Given the description of an element on the screen output the (x, y) to click on. 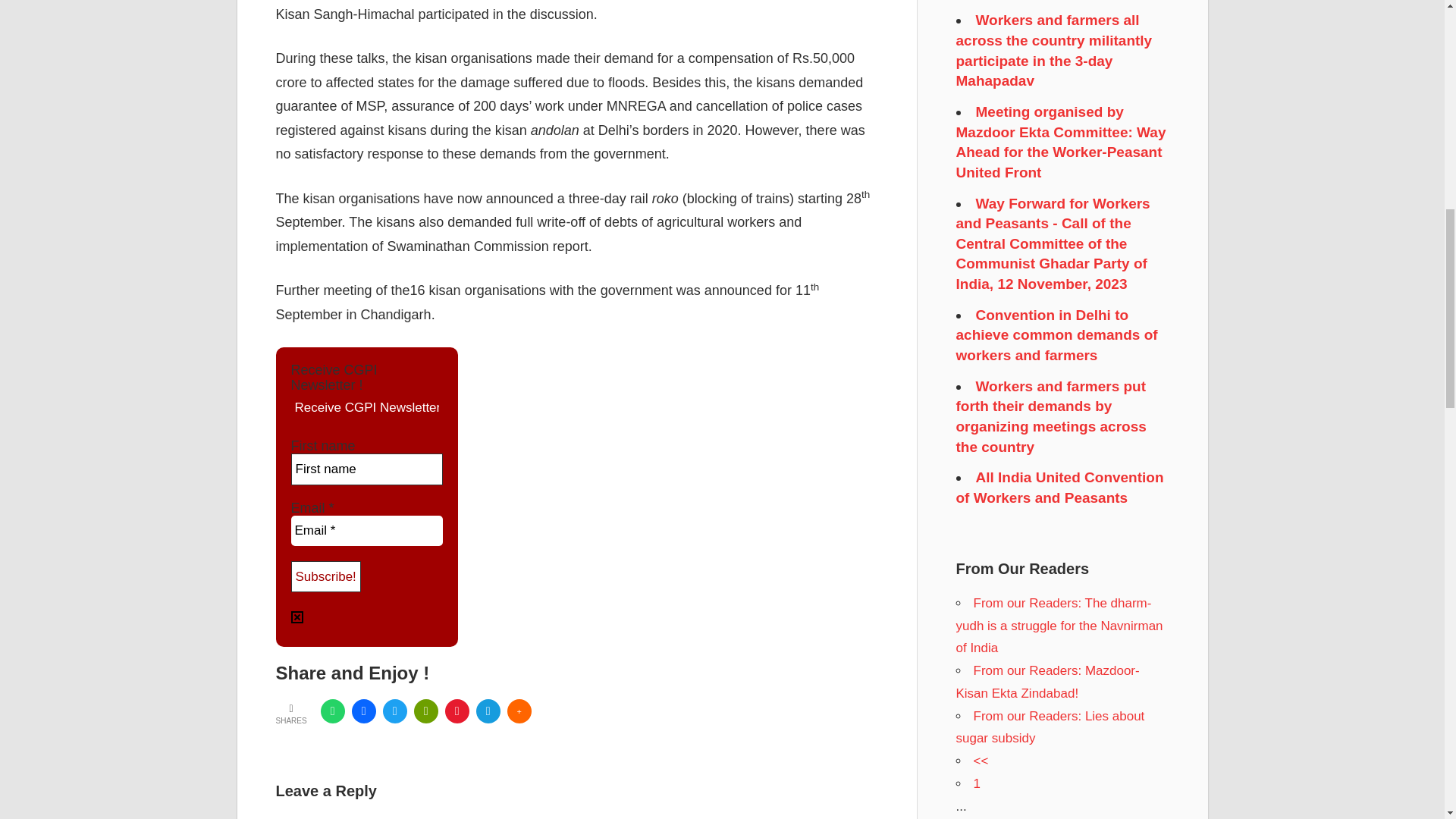
LATEST POSTS (303, 760)
Share this on Facebook (363, 711)
First name (366, 469)
Subscribe! (326, 576)
More share links (518, 711)
Print this article  (425, 711)
Receive CGPI Newsletter ! (366, 408)
Tweet this ! (394, 711)
Telegram (488, 711)
WhatsApp (332, 711)
